Given the description of an element on the screen output the (x, y) to click on. 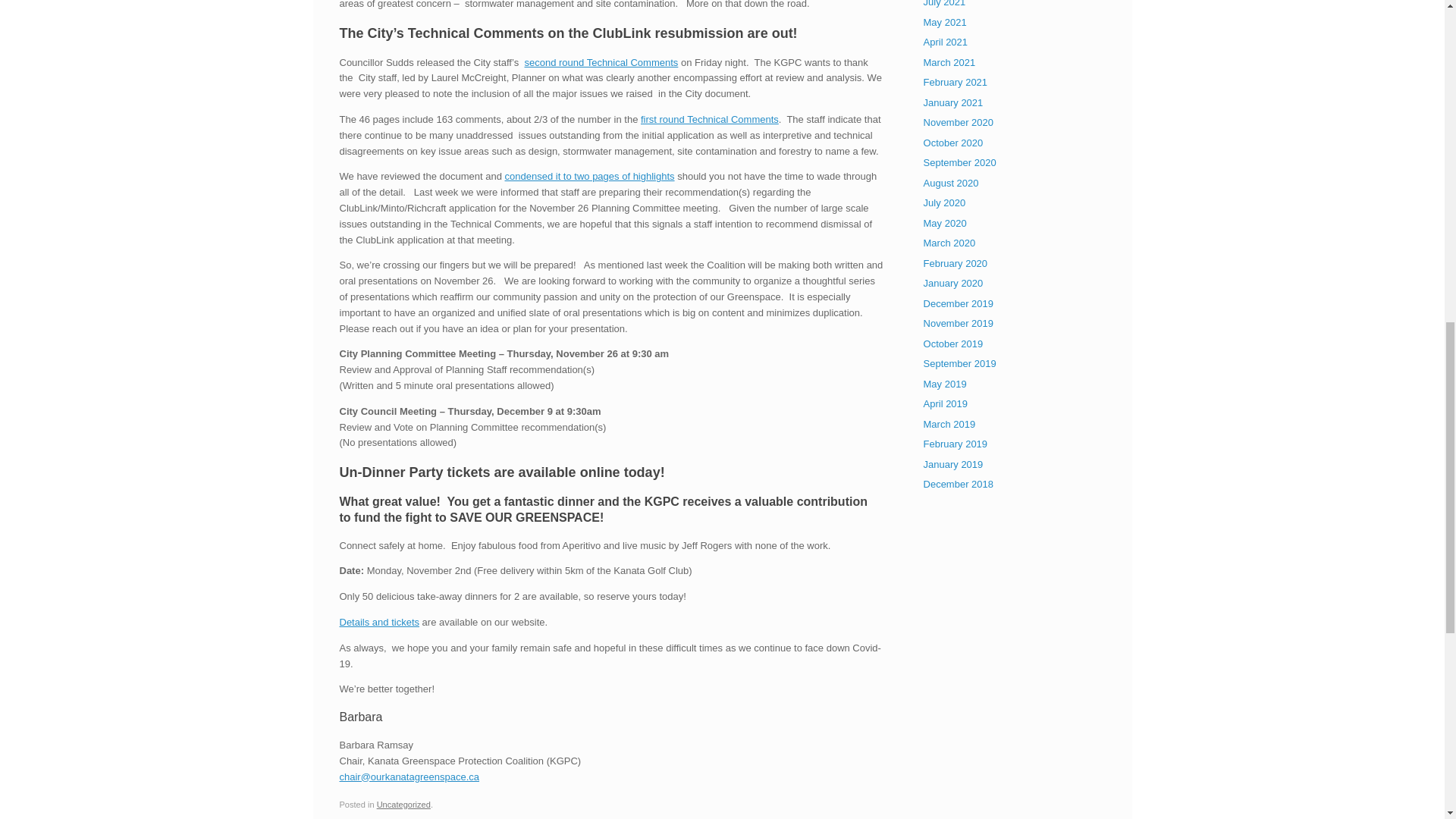
Details and tickets (379, 622)
condensed it to two pages of highlights (590, 175)
second round Technical Comments (601, 61)
Uncategorized (403, 804)
first round Technical Comments (709, 119)
